Given the description of an element on the screen output the (x, y) to click on. 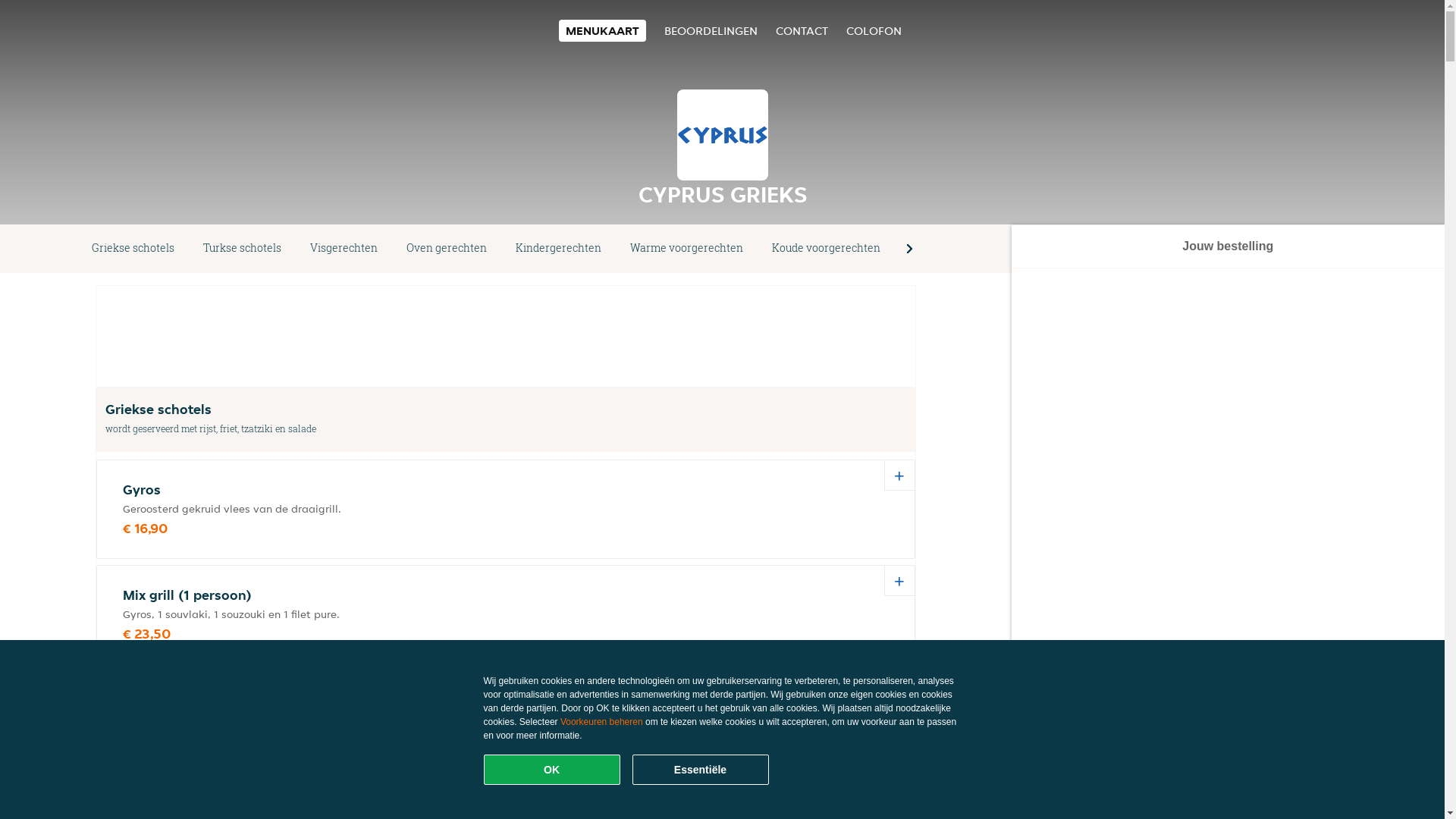
Oven gerechten Element type: text (446, 248)
Meer productinformatie Element type: hover (182, 807)
Kindergerechten Element type: text (558, 248)
Voorkeuren beheren Element type: text (601, 721)
Turkse schotels Element type: text (241, 248)
BEOORDELINGEN Element type: text (710, 30)
Griekse schotels Element type: text (132, 248)
Meer productinformatie Element type: hover (168, 701)
Koude voorgerechten Element type: text (825, 248)
Warme voorgerechten Element type: text (686, 248)
Visgerechten Element type: text (343, 248)
OK Element type: text (551, 769)
COLOFON Element type: text (873, 30)
MENUKAART Element type: text (601, 30)
CONTACT Element type: text (801, 30)
